Given the description of an element on the screen output the (x, y) to click on. 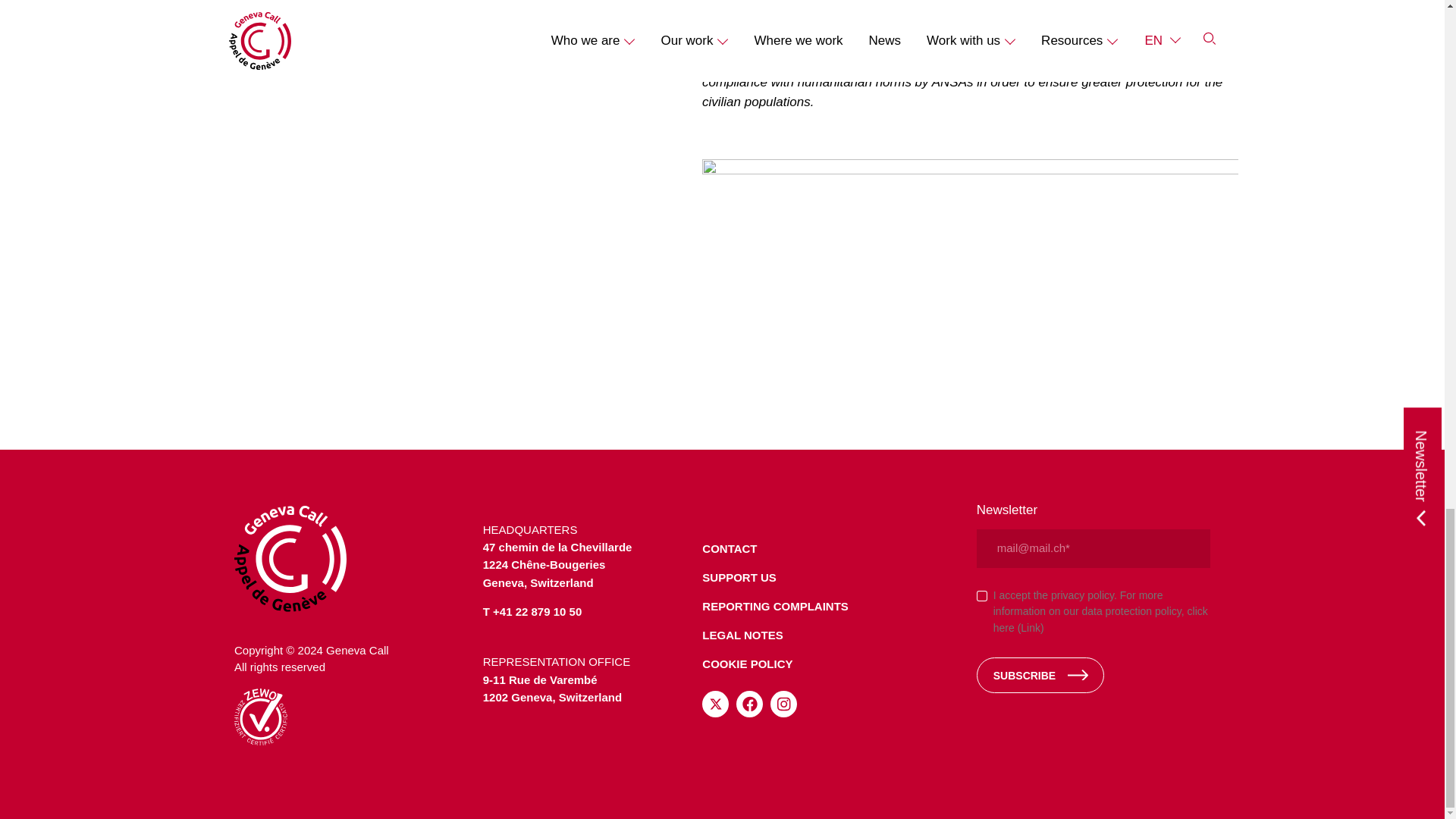
Geneva Call (350, 558)
